Given the description of an element on the screen output the (x, y) to click on. 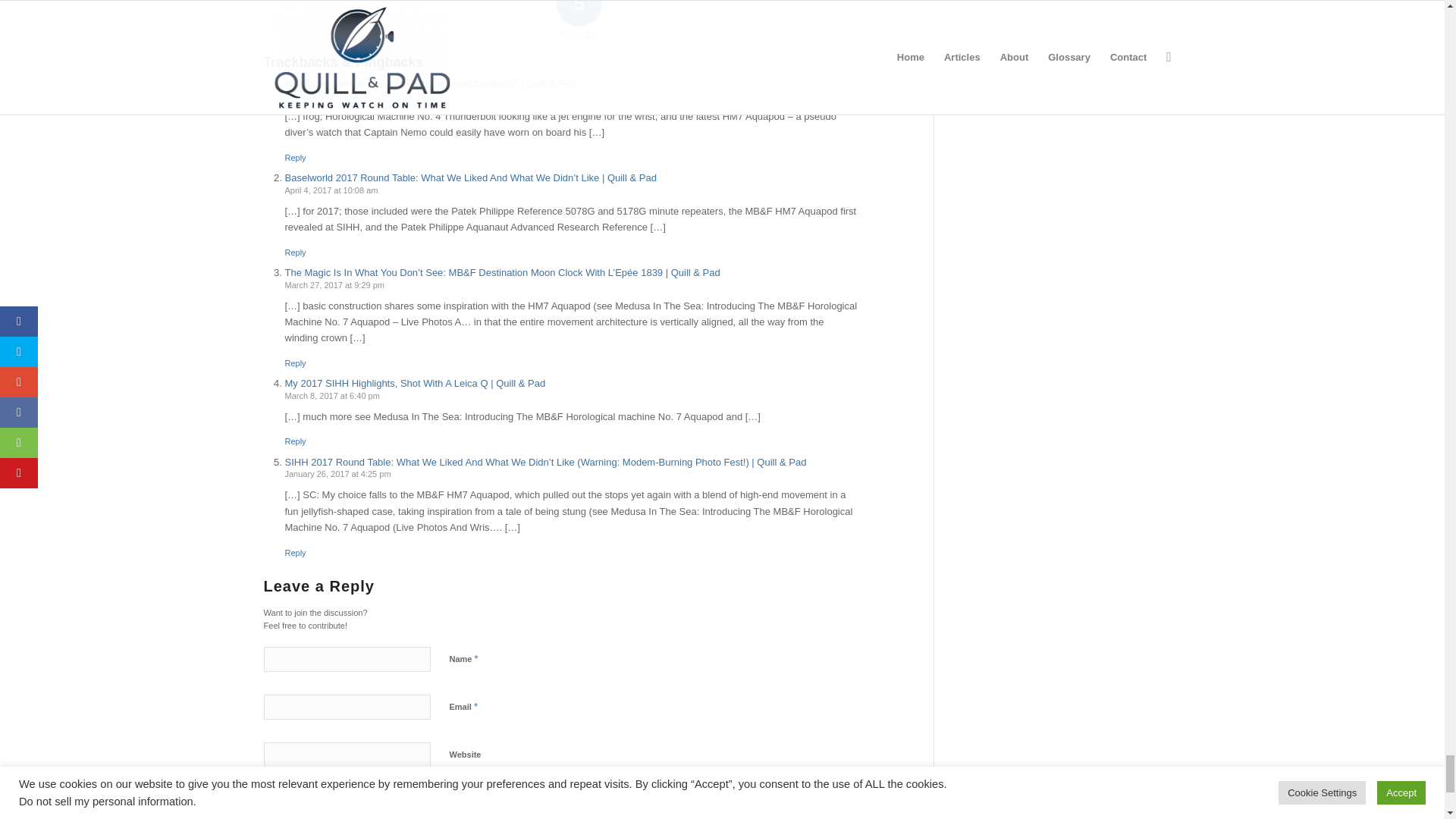
Reply (295, 157)
Reply (295, 440)
January 26, 2017 at 4:25 pm (338, 473)
March 27, 2017 at 9:29 pm (334, 284)
April 4, 2017 at 10:08 am (331, 189)
March 8, 2017 at 6:40 pm (332, 395)
Reply (295, 362)
Reply (295, 552)
Reply (295, 252)
May 23, 2017 at 5:43 pm (331, 94)
